Given the description of an element on the screen output the (x, y) to click on. 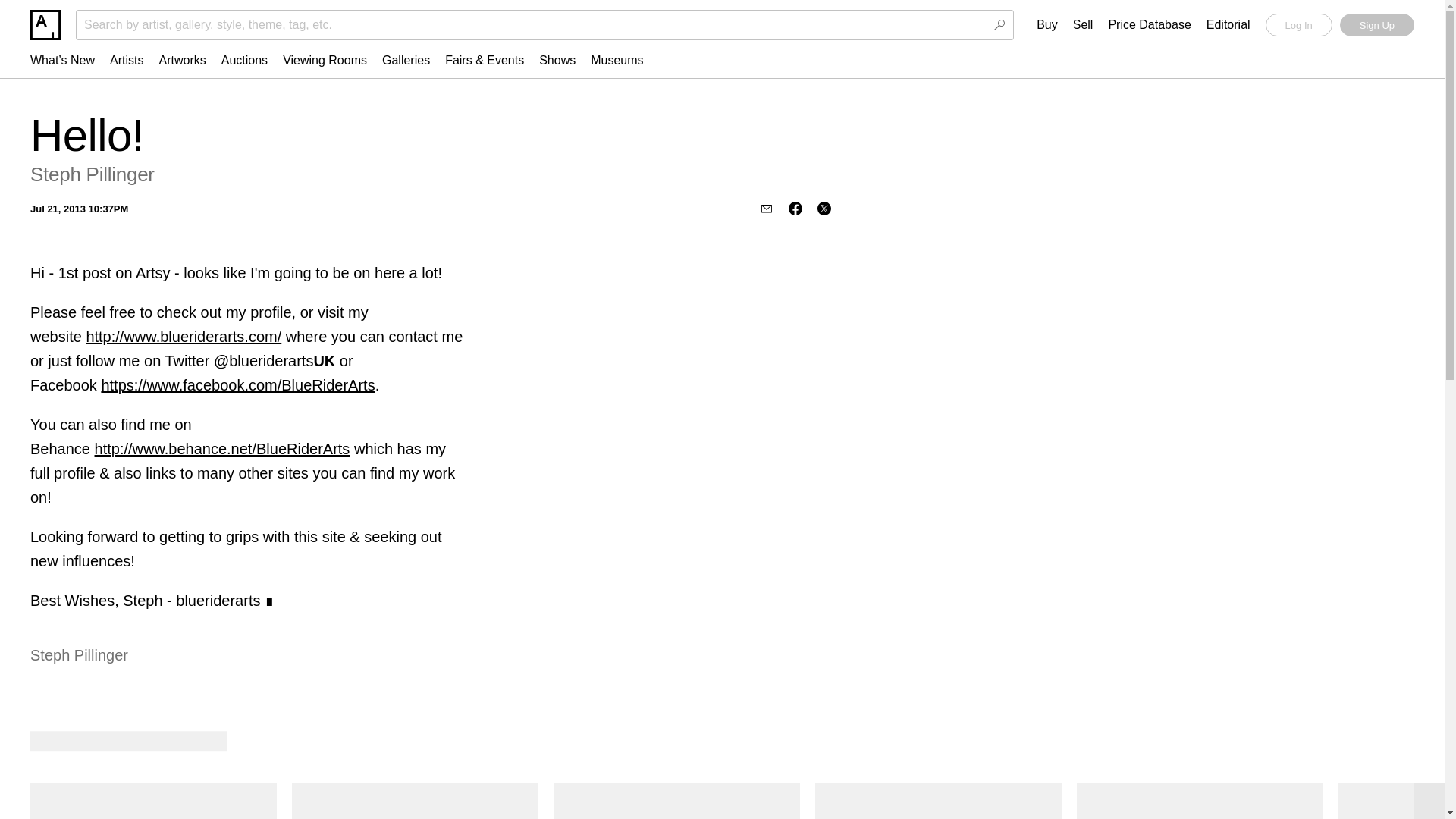
Post to Facebook (795, 208)
Artists (126, 59)
Share via email (766, 208)
Artworks (182, 59)
Buy (1047, 25)
Sign Up (1376, 24)
Viewing Rooms (324, 59)
Share on X (823, 208)
Sell (1082, 25)
Price Database (1149, 25)
Auctions (244, 59)
Museums (616, 59)
Log In (1298, 24)
Shows (557, 59)
